Given the description of an element on the screen output the (x, y) to click on. 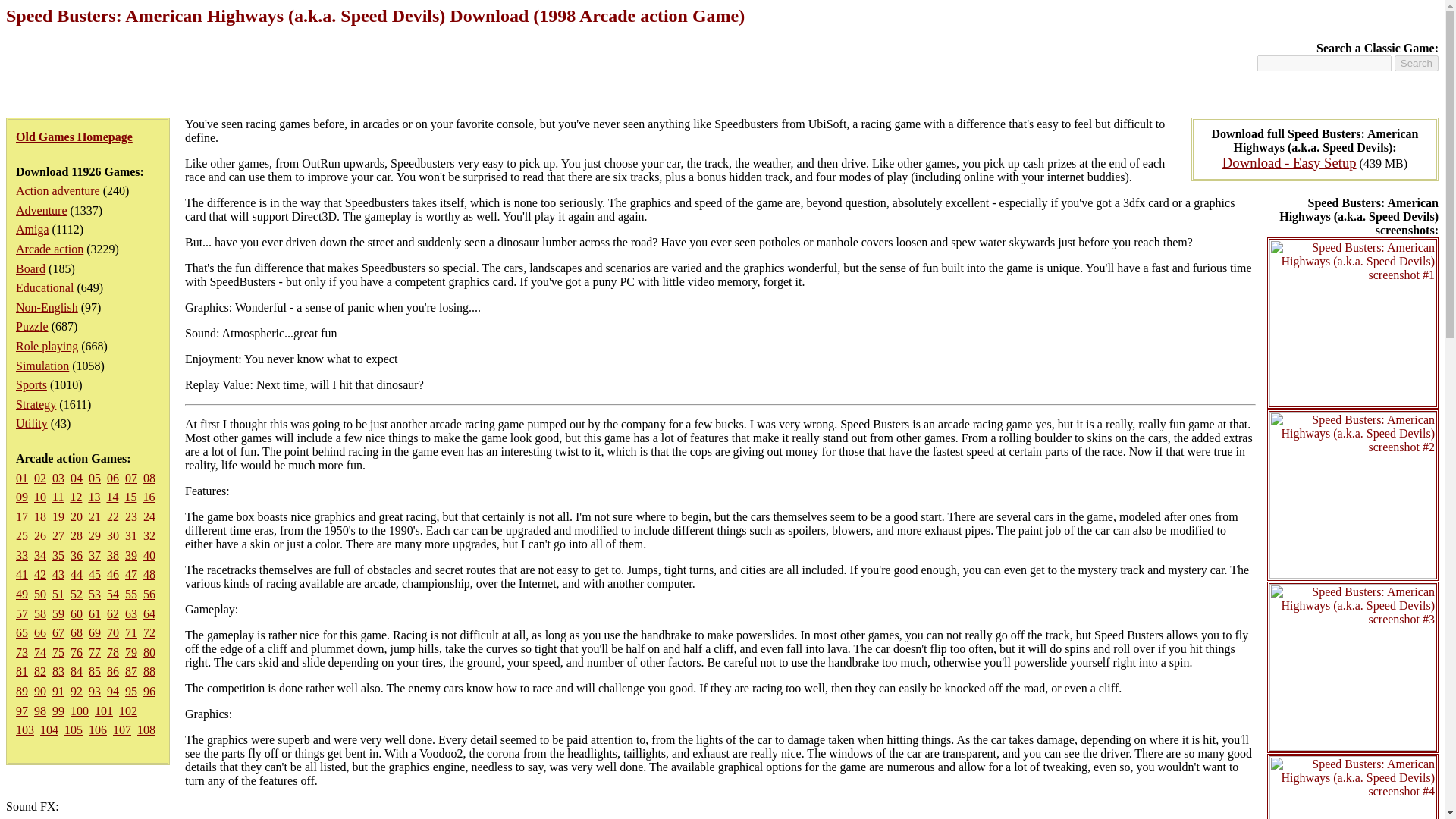
14 (111, 496)
22 (112, 516)
17 (21, 516)
Adventure (41, 210)
04 (75, 477)
Board (30, 268)
06 (112, 477)
15 (129, 496)
25 (21, 535)
24 (148, 516)
07 (130, 477)
01 (21, 477)
18 (39, 516)
Action adventure (58, 190)
09 (21, 496)
